Given the description of an element on the screen output the (x, y) to click on. 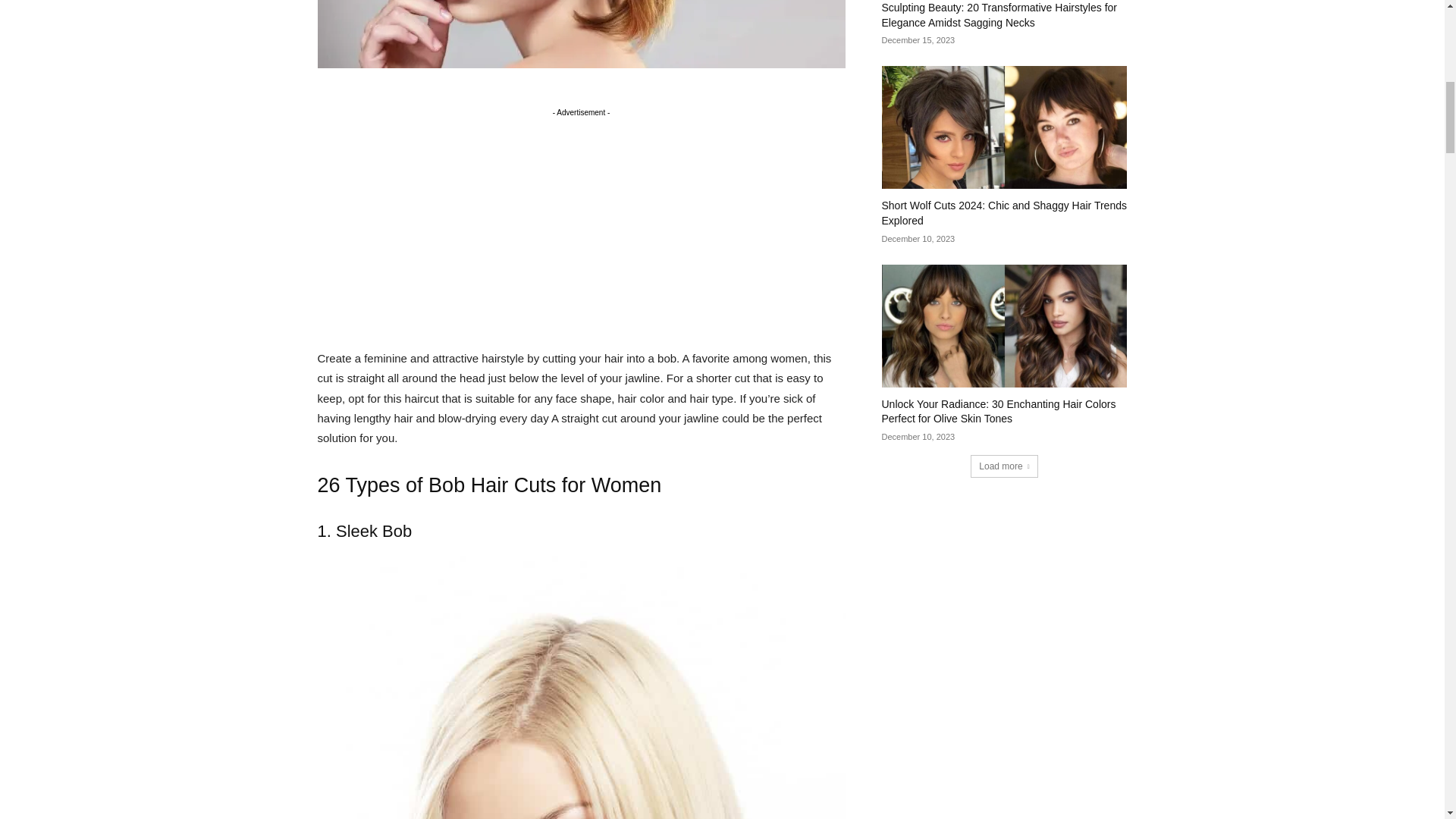
Advertisement (580, 226)
